Given the description of an element on the screen output the (x, y) to click on. 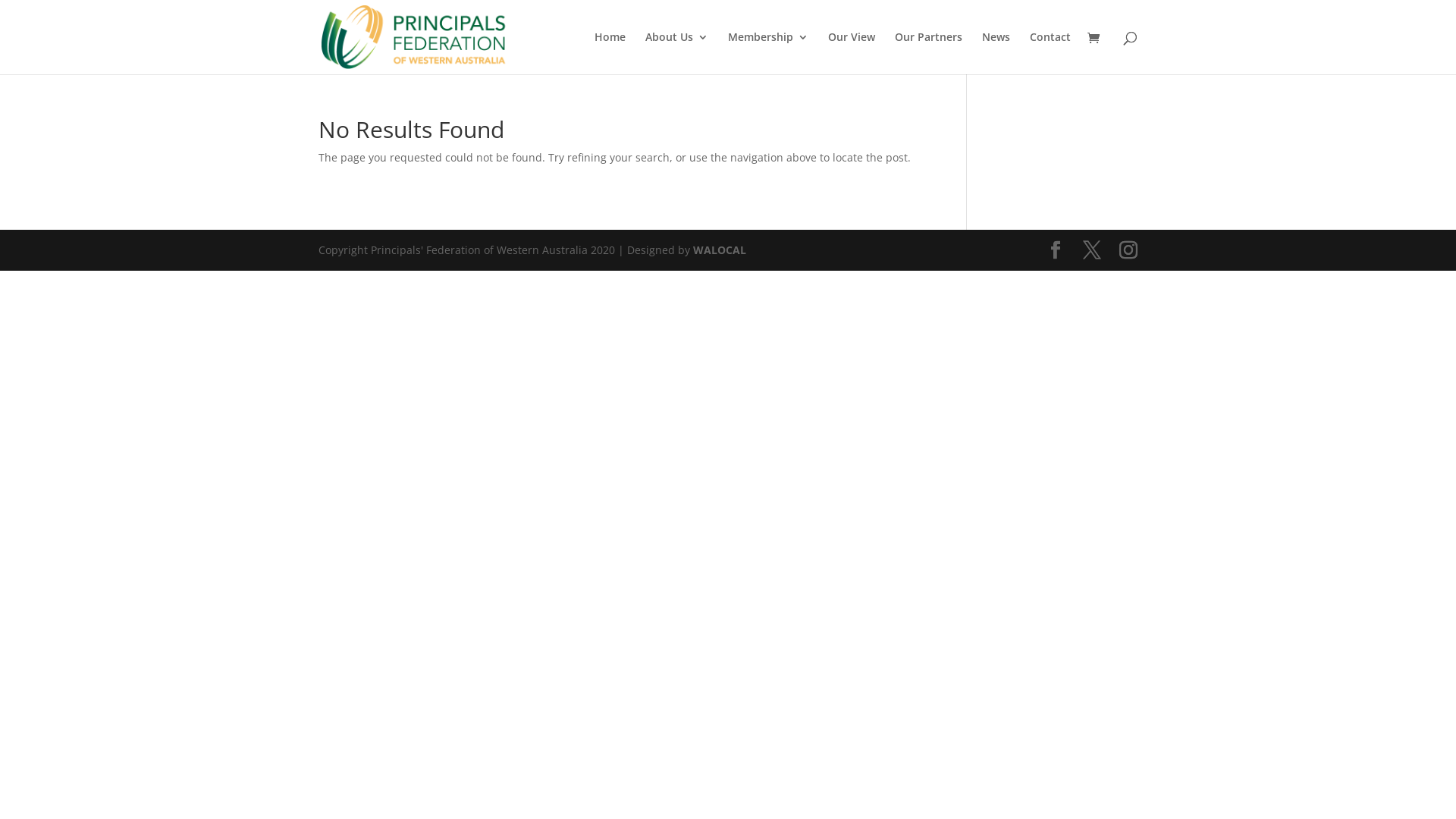
Membership Element type: text (768, 52)
Home Element type: text (609, 52)
Our Partners Element type: text (928, 52)
Contact Element type: text (1049, 52)
Our View Element type: text (851, 52)
About Us Element type: text (676, 52)
News Element type: text (996, 52)
